Given the description of an element on the screen output the (x, y) to click on. 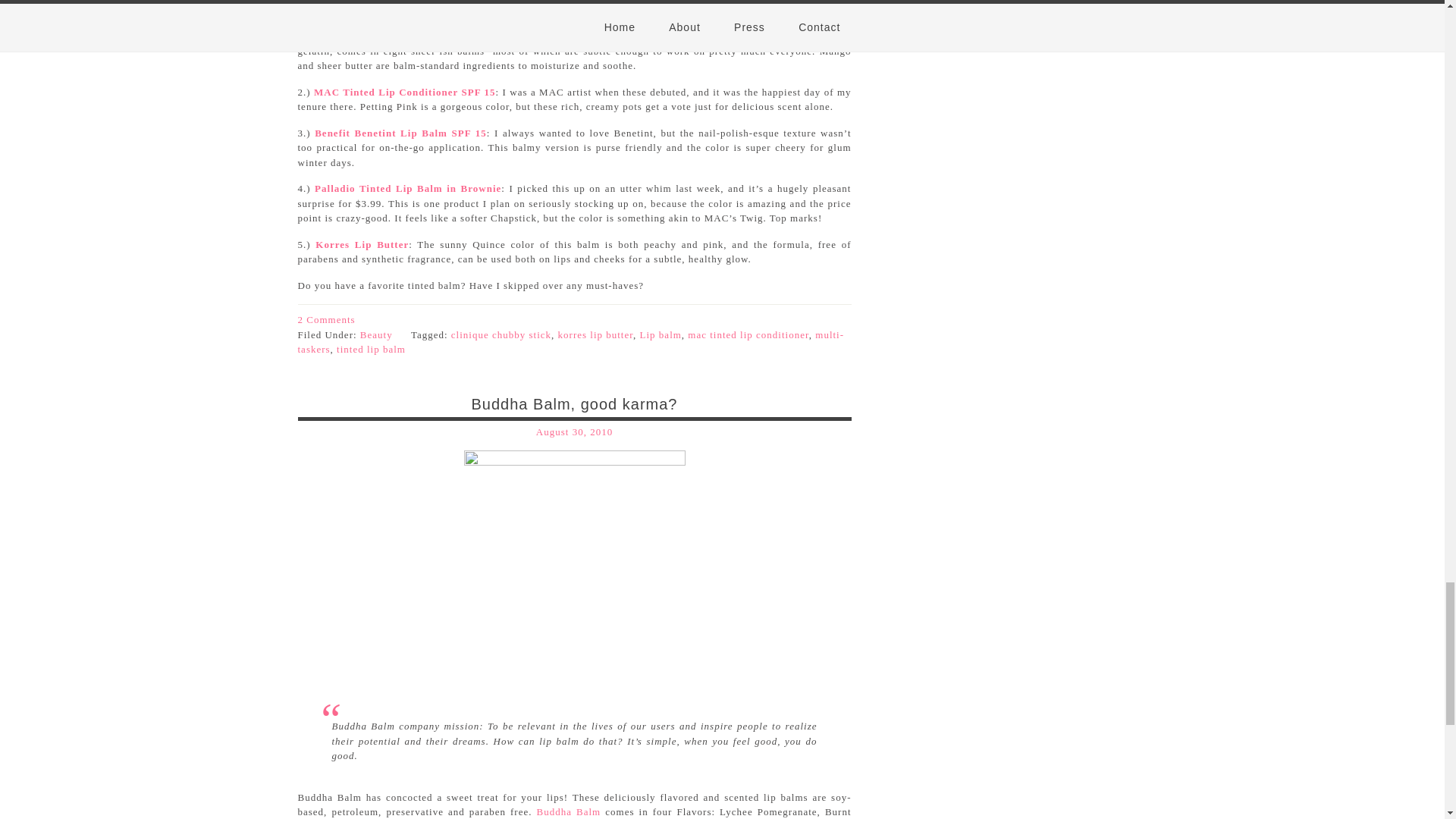
2 Comments (326, 319)
clinique chubby stick (501, 334)
Beauty (376, 334)
BuddhaBalm (574, 564)
Clinique Chubby Stick Moisturizing Lip Color Balm (450, 35)
Palladio Tinted Lip Balm in Brownie (407, 188)
korres lip butter (595, 334)
Benefit Benetint Lip Balm SPF 15 (400, 132)
Korres Lip Butter (362, 244)
Lip balm (660, 334)
MAC Tinted Lip Conditioner SPF 15 (405, 91)
